Given the description of an element on the screen output the (x, y) to click on. 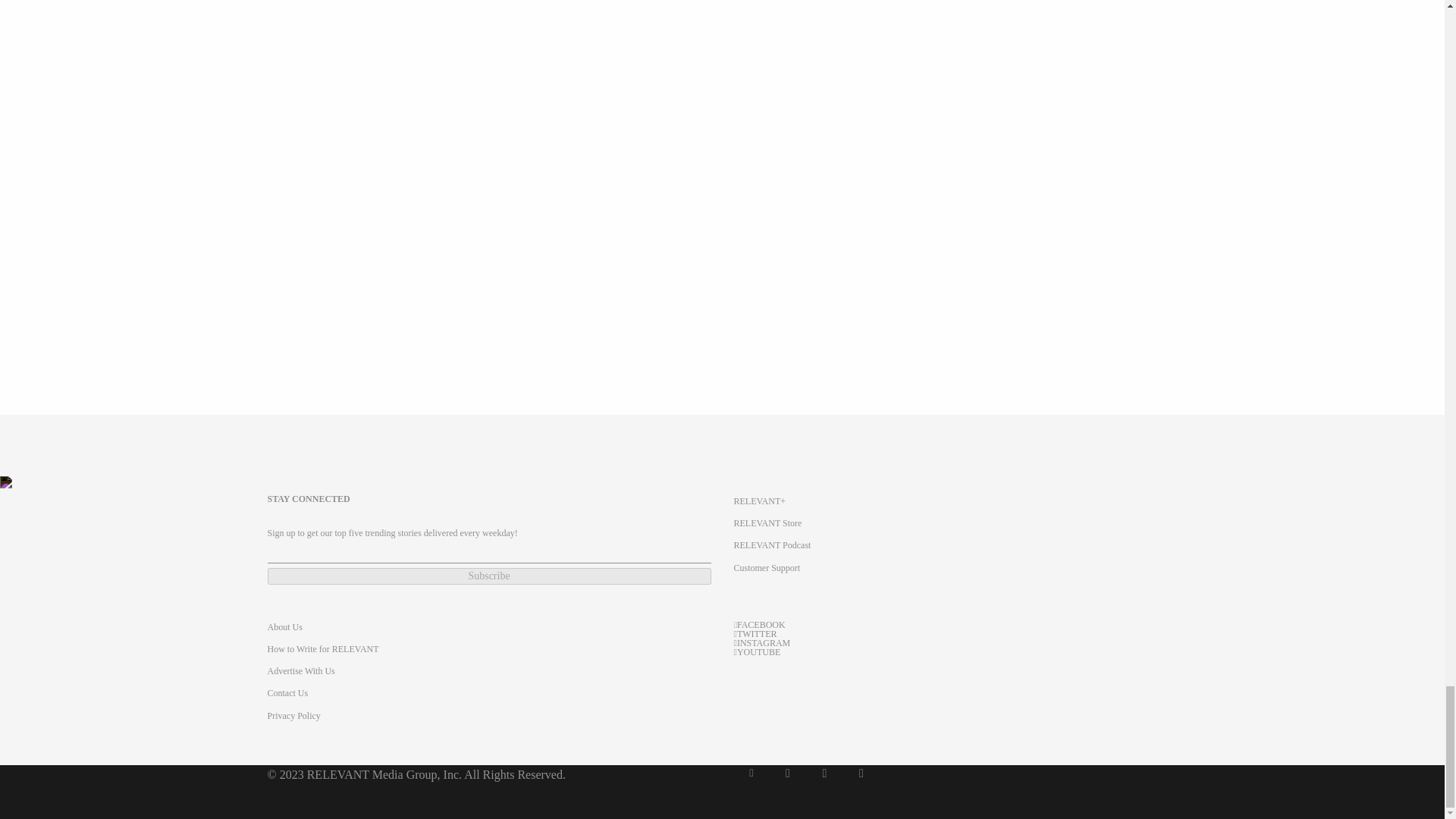
Subscribe (488, 576)
